Given the description of an element on the screen output the (x, y) to click on. 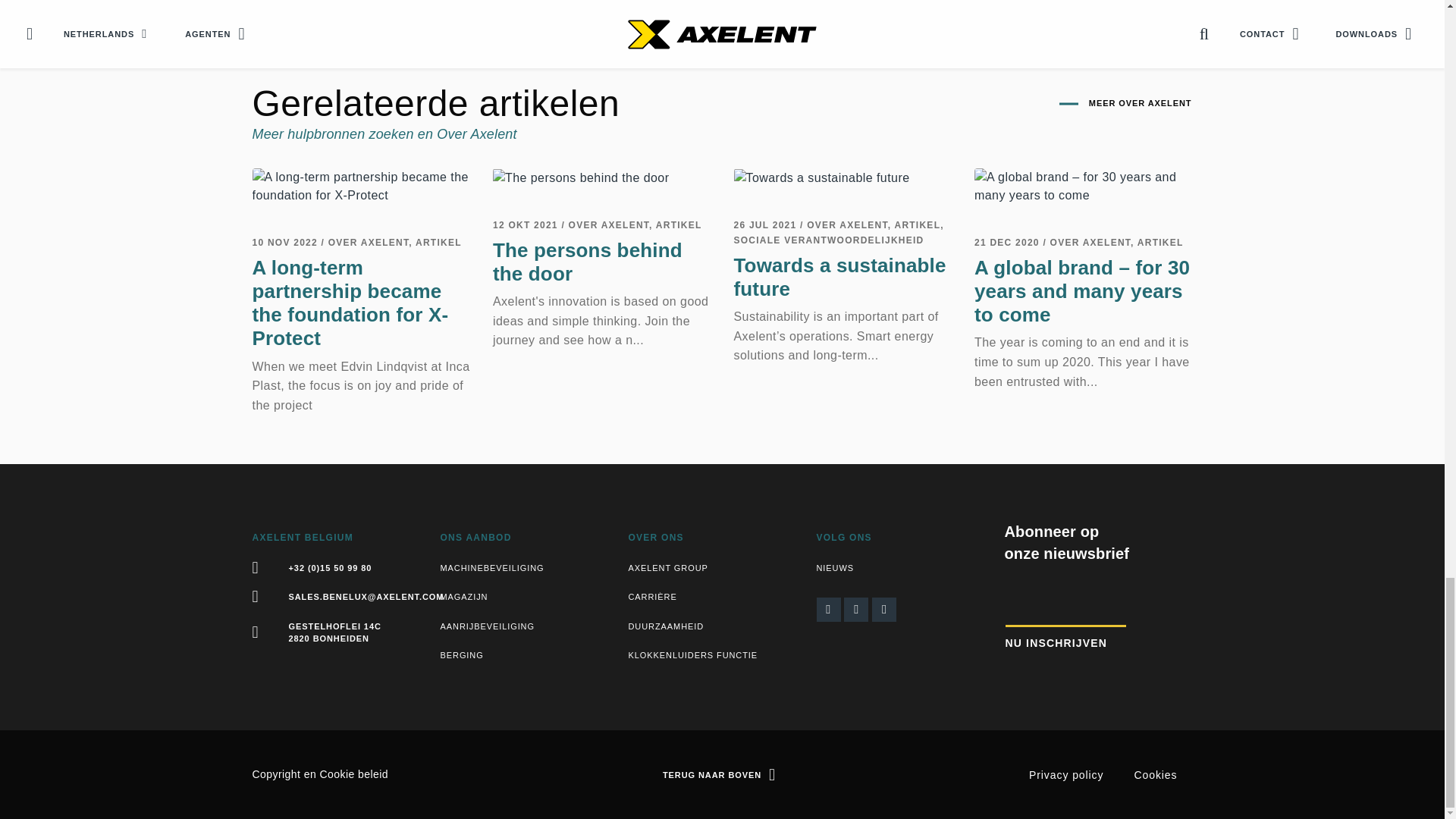
Towards a sustainable future (821, 177)
Cookies (354, 774)
The persons behind the door (580, 177)
A long-term partnership became the foundation for X-Protect (360, 186)
